Given the description of an element on the screen output the (x, y) to click on. 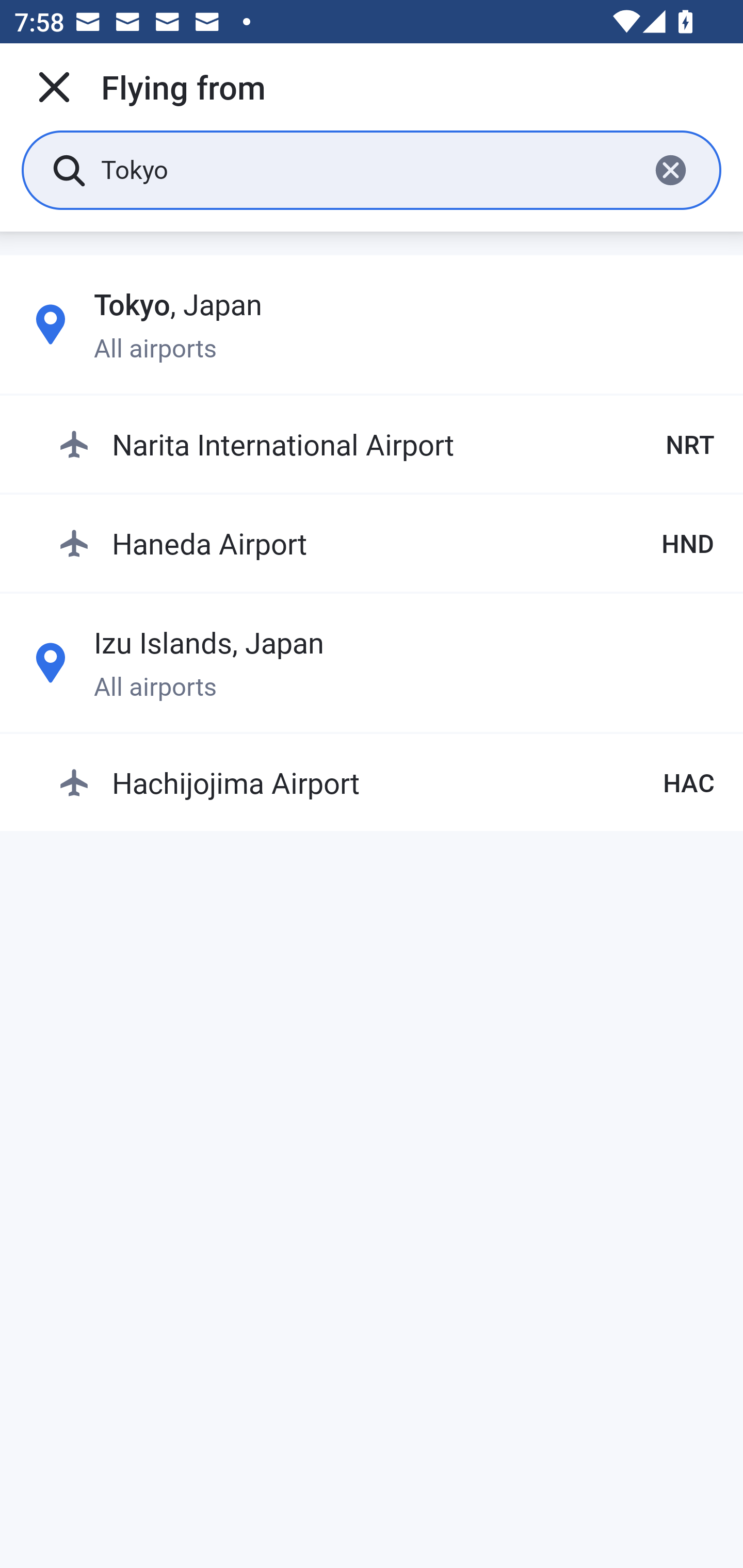
Tokyo (367, 169)
Tokyo, Japan All airports (371, 324)
Narita International Airport NRT (385, 444)
Haneda Airport HND (385, 543)
Izu Islands, Japan All airports (371, 662)
Hachijojima Airport HAC (385, 782)
